Given the description of an element on the screen output the (x, y) to click on. 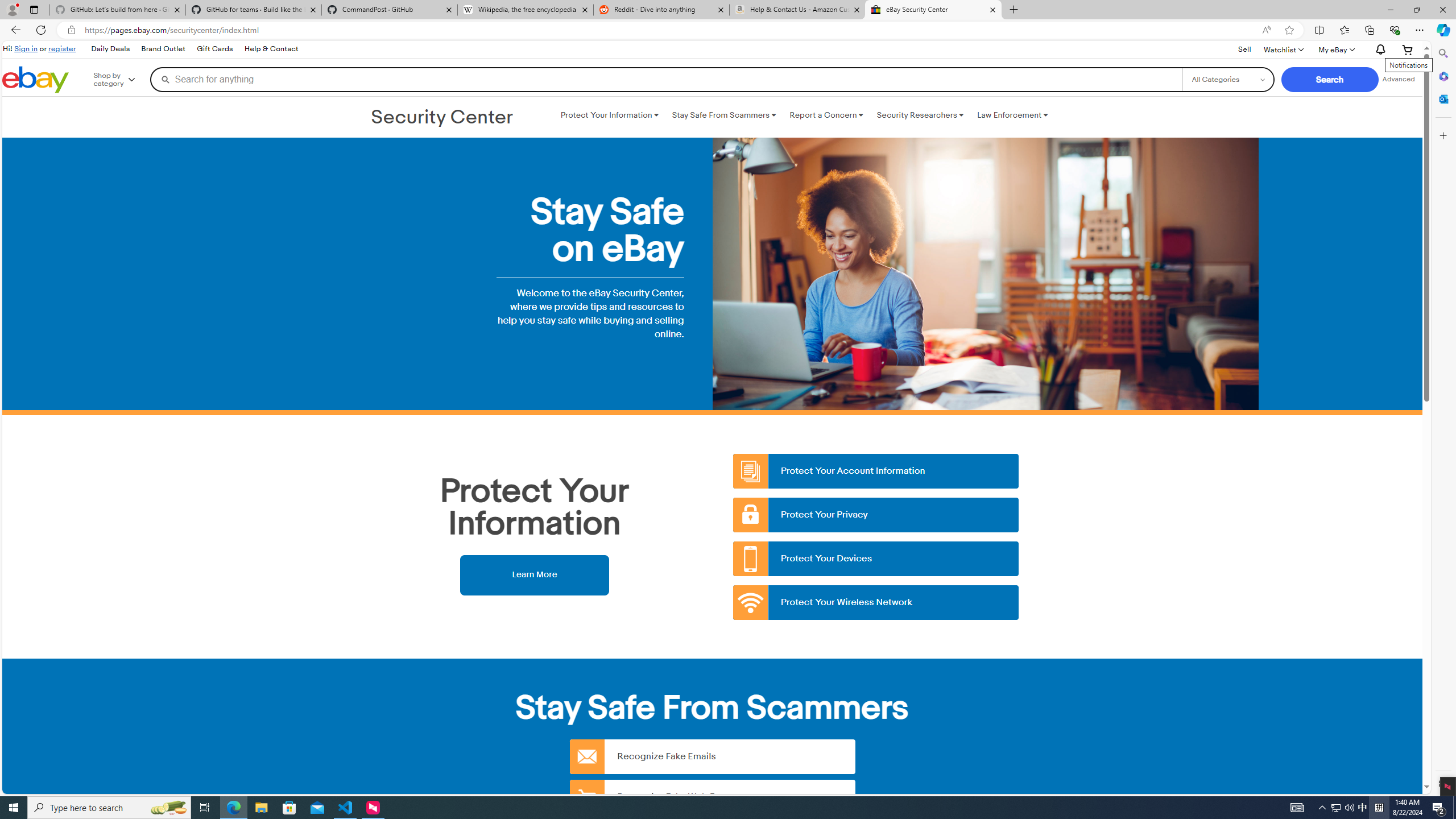
Select a category for search (1228, 78)
eBay Security Center (933, 9)
Wikipedia, the free encyclopedia (525, 9)
Recognize Fake Emails (712, 756)
eBay Home (35, 79)
Sign in (25, 48)
Recognize Fake Web Pages (712, 796)
Gift Cards (214, 49)
